Given the description of an element on the screen output the (x, y) to click on. 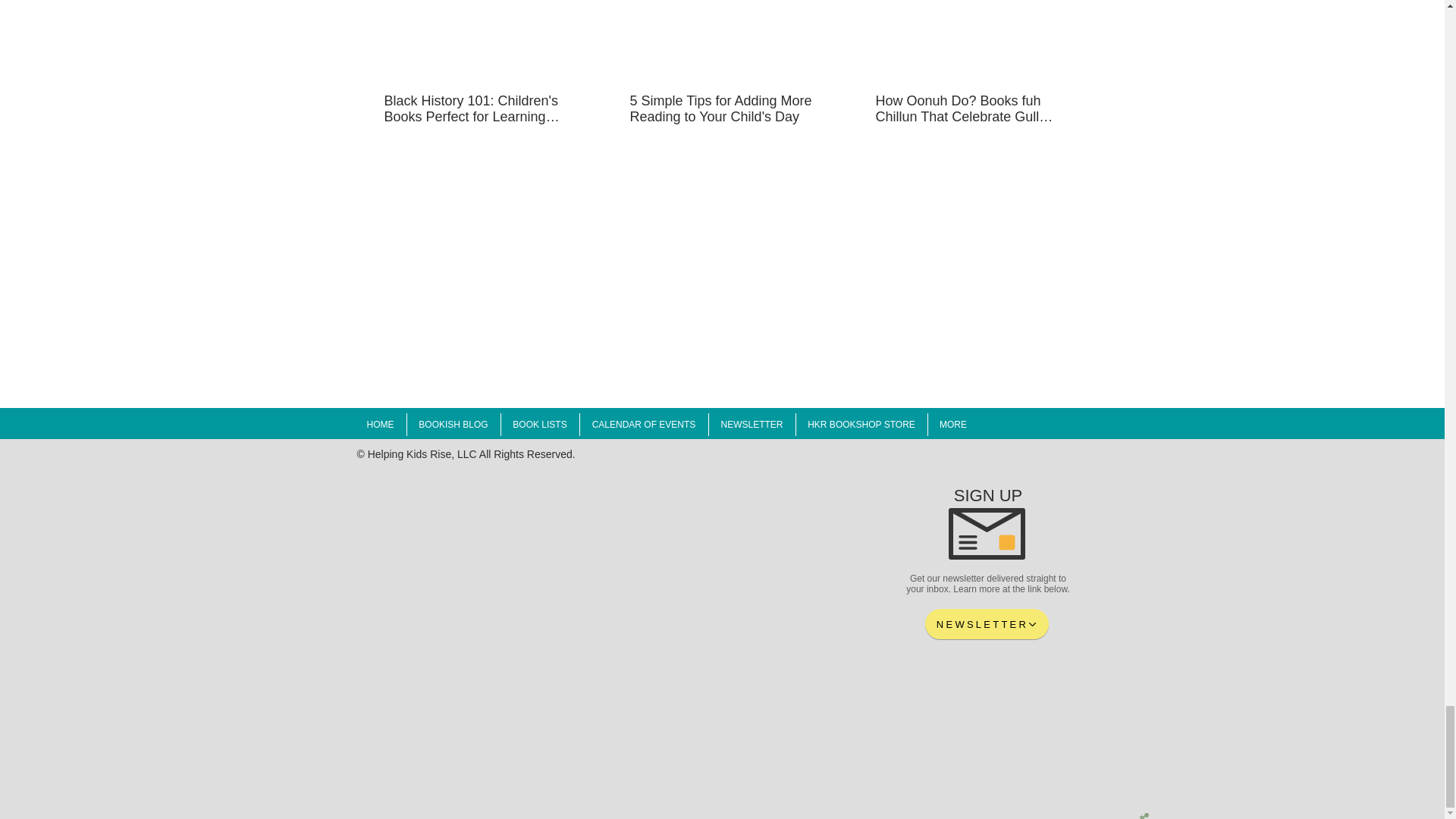
5 Simple Tips for Adding More Reading to Your Child's Day (720, 109)
